Given the description of an element on the screen output the (x, y) to click on. 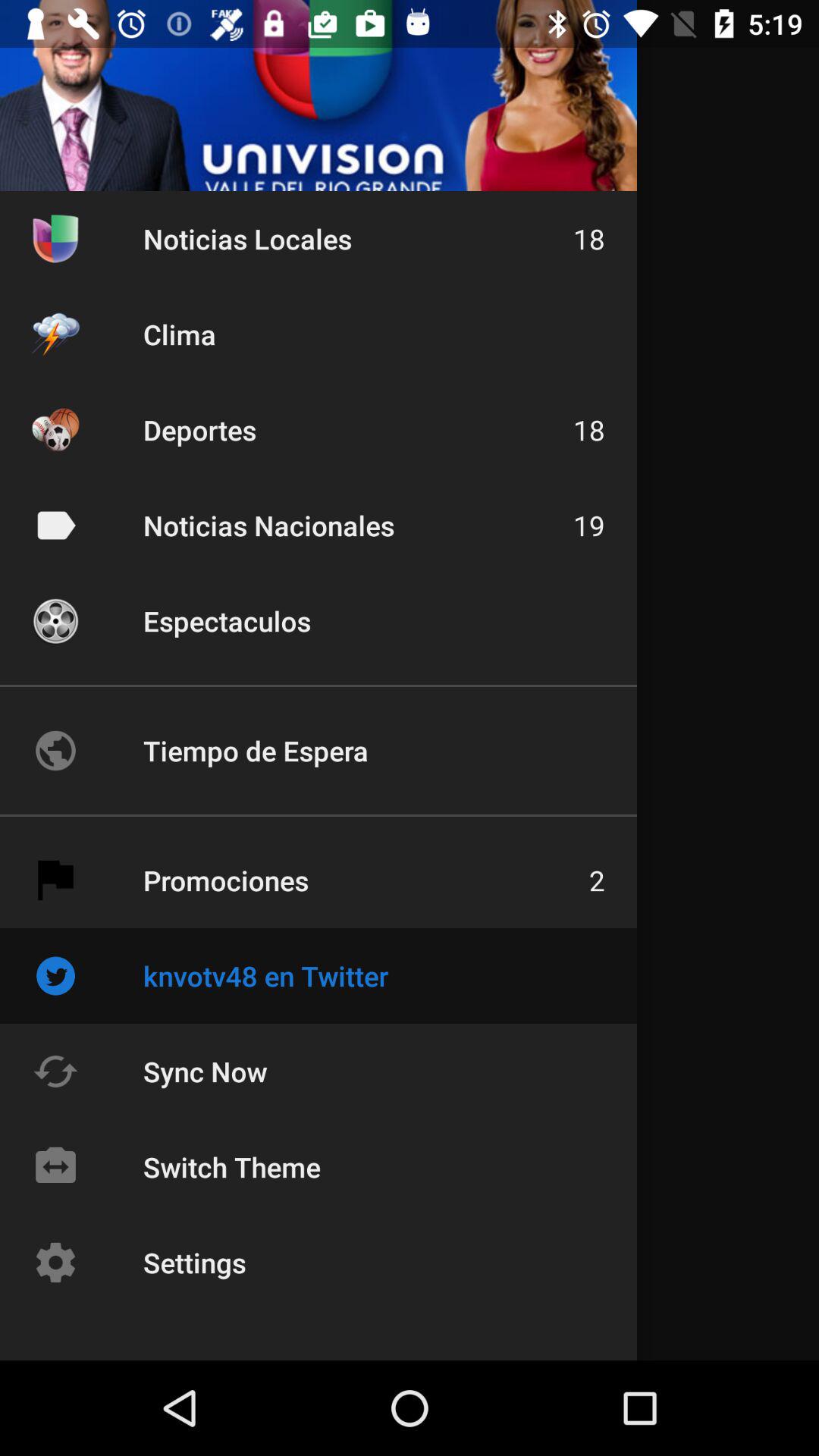
click on weather icon (55, 333)
click on sixth icon from bottom (55, 750)
click  the symbol left to knvotv48 en twitter (55, 975)
click on the icon which is left to the promociones (55, 879)
select the symbol which is to the left side of noticias nacoinales (55, 525)
